Given the description of an element on the screen output the (x, y) to click on. 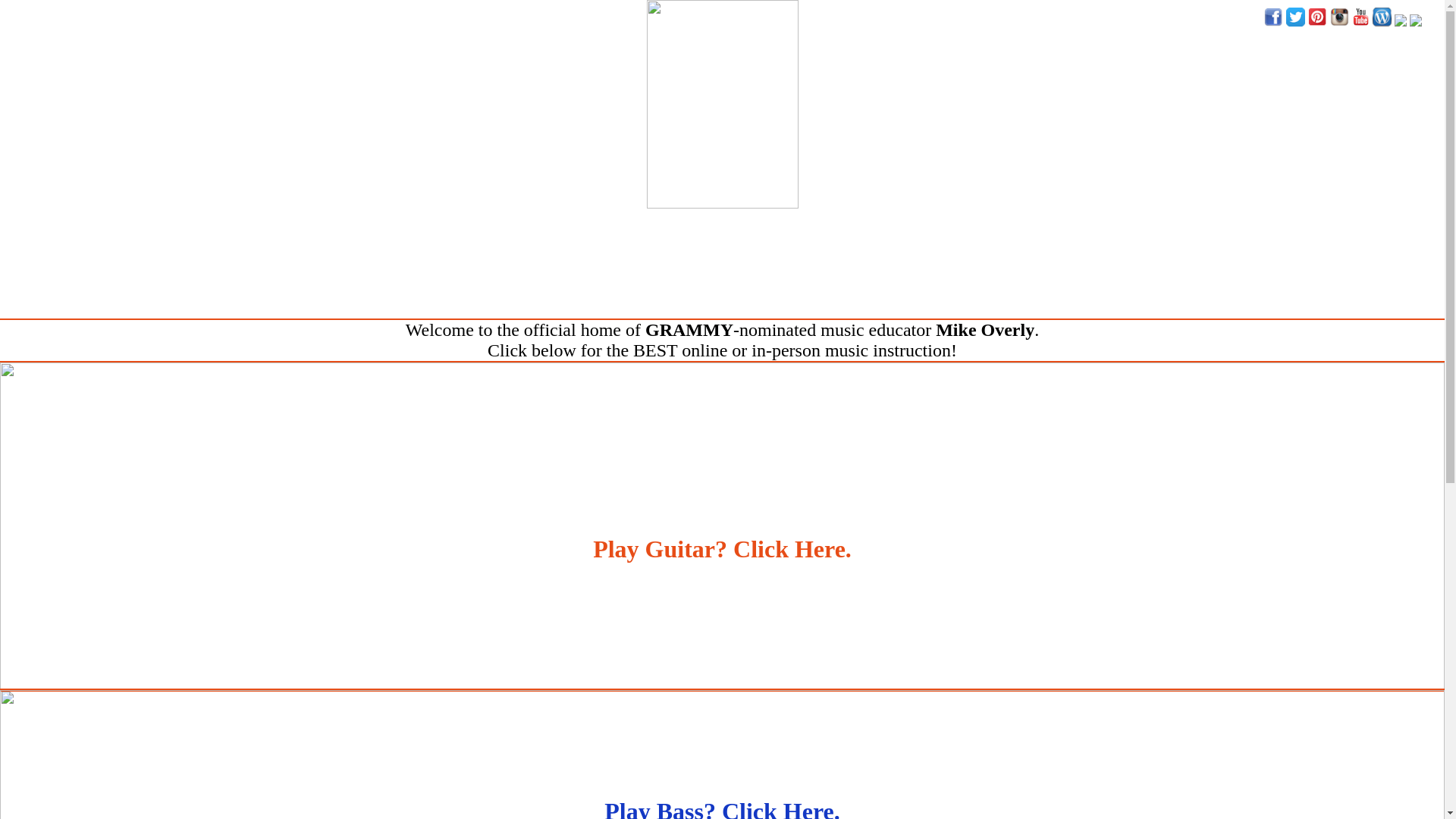
Play Guitar? Click Here. Element type: text (722, 685)
